Given the description of an element on the screen output the (x, y) to click on. 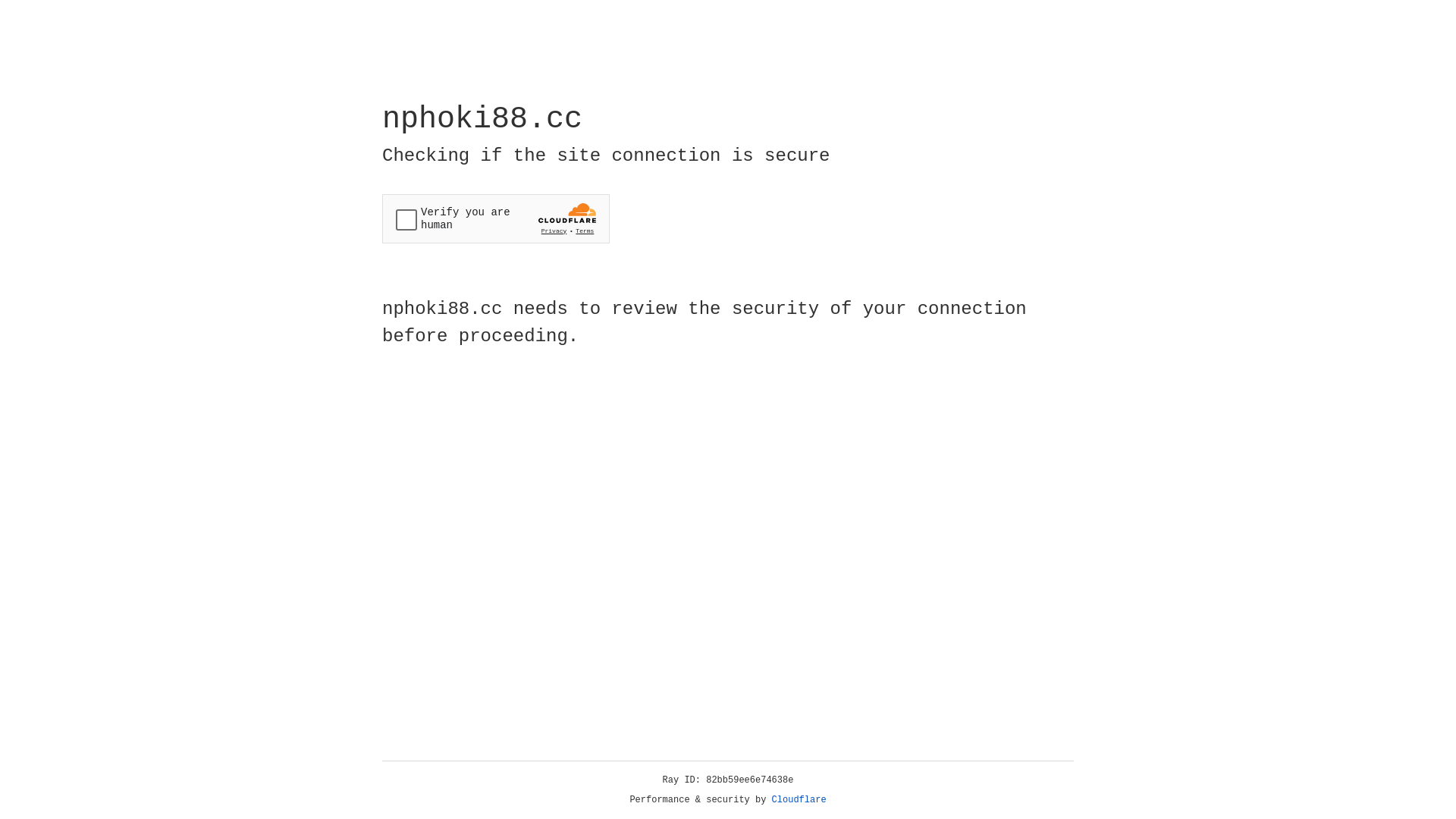
Cloudflare Element type: text (798, 799)
Widget containing a Cloudflare security challenge Element type: hover (495, 218)
